Given the description of an element on the screen output the (x, y) to click on. 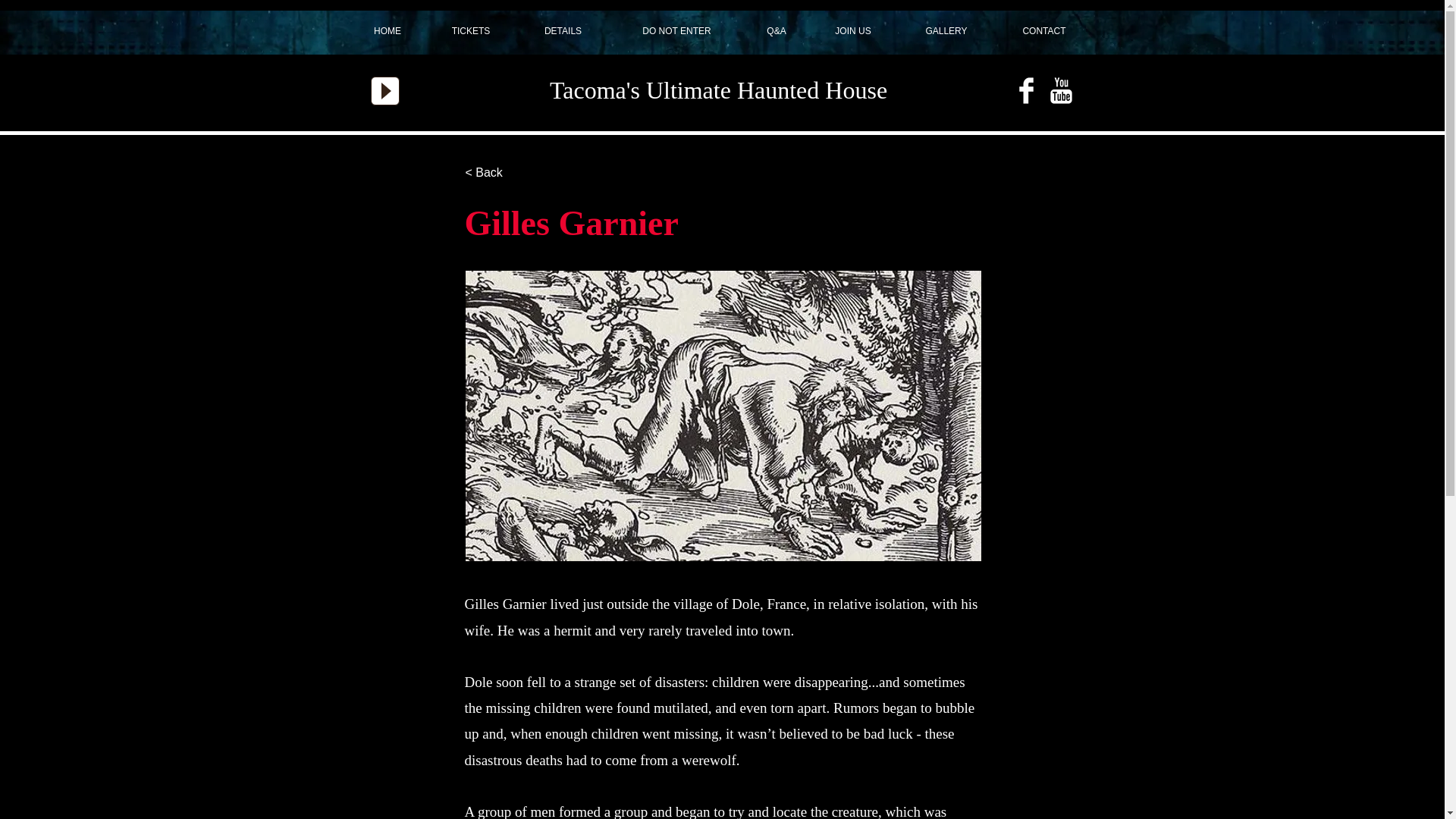
TICKETS (471, 31)
CONTACT (1044, 31)
JOIN US (853, 31)
DETAILS (562, 31)
DO NOT ENTER (676, 31)
GALLERY (946, 31)
HOME (386, 31)
